Given the description of an element on the screen output the (x, y) to click on. 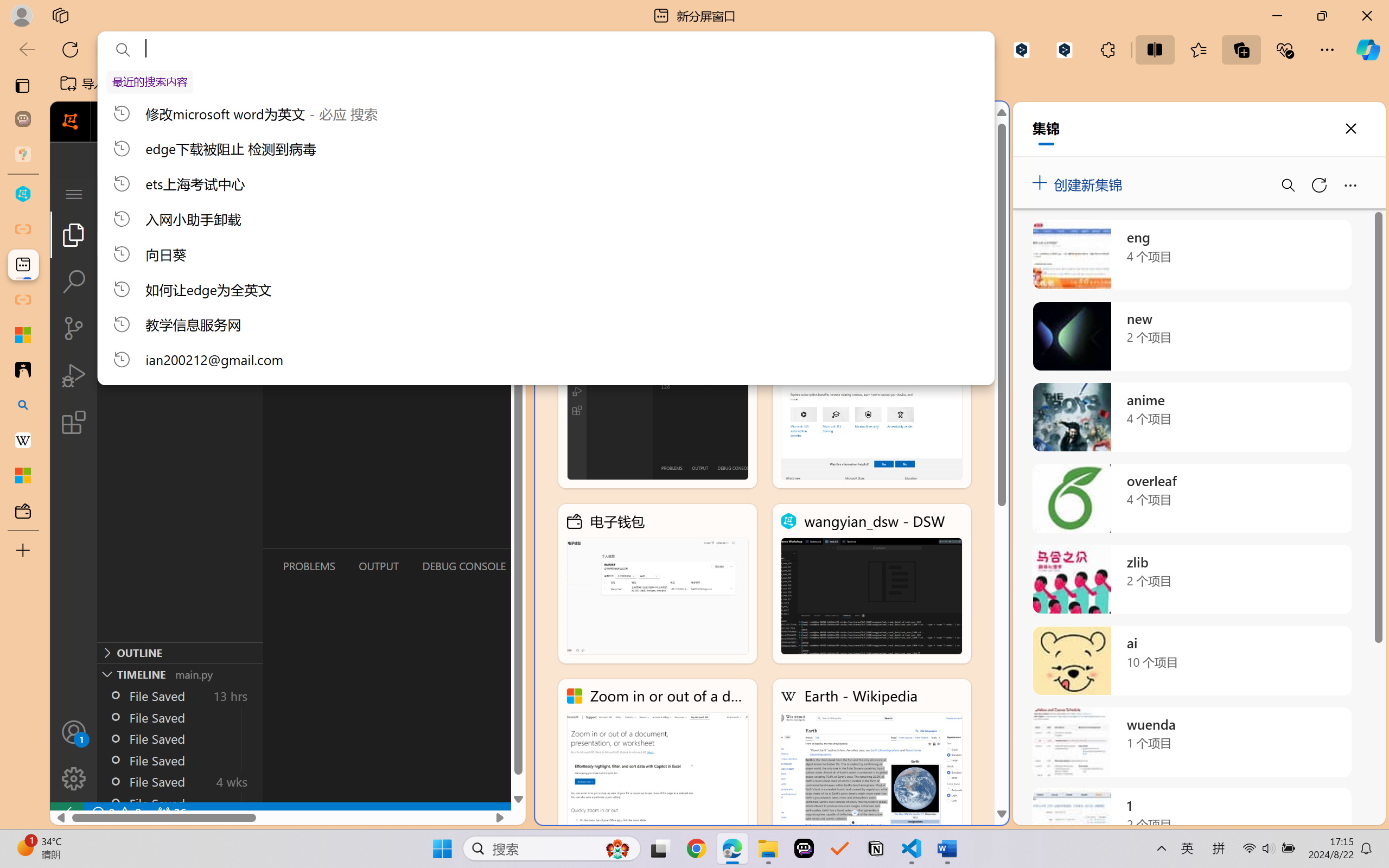
Explorer actions (212, 194)
Explorer (Ctrl+Shift+E) (73, 234)
